Given the description of an element on the screen output the (x, y) to click on. 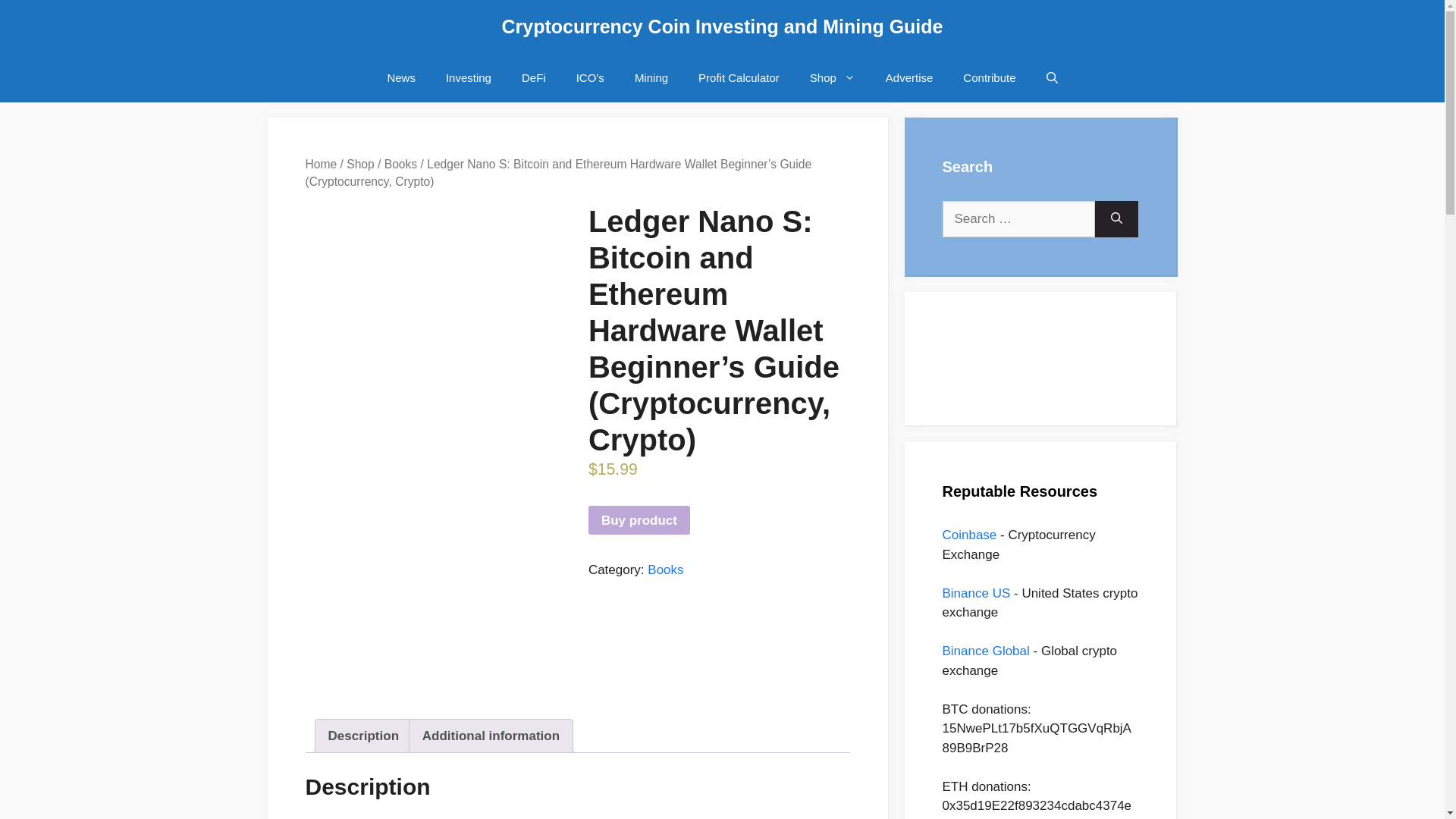
Cryptocurrency Coin Investing and Mining Guide (722, 25)
Search for: (1018, 218)
Books (664, 569)
News (400, 77)
Buy product (639, 520)
Description (362, 735)
Investing (468, 77)
DeFi (533, 77)
Advertise (909, 77)
Profit Calculator (738, 77)
Shop (360, 164)
Additional information (490, 735)
Shop (832, 77)
Contribute (988, 77)
Mining (651, 77)
